Given the description of an element on the screen output the (x, y) to click on. 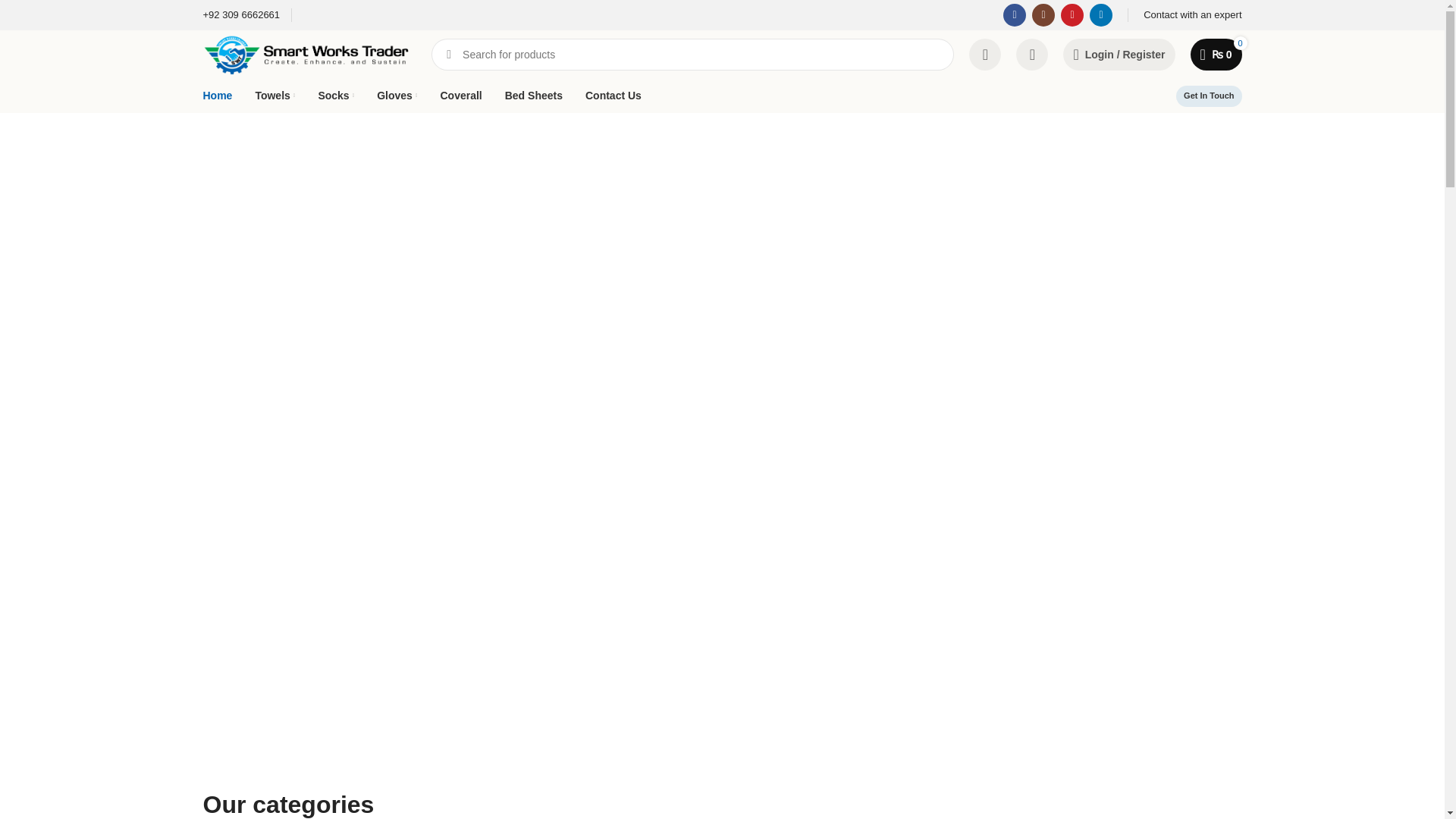
Compare products (988, 54)
Gloves (396, 95)
Bed Sheets (533, 95)
My account (1122, 54)
Socks (335, 95)
Coverall (460, 95)
Home (217, 95)
My Wishlist (1035, 54)
Towels (274, 95)
Search (447, 54)
